Given the description of an element on the screen output the (x, y) to click on. 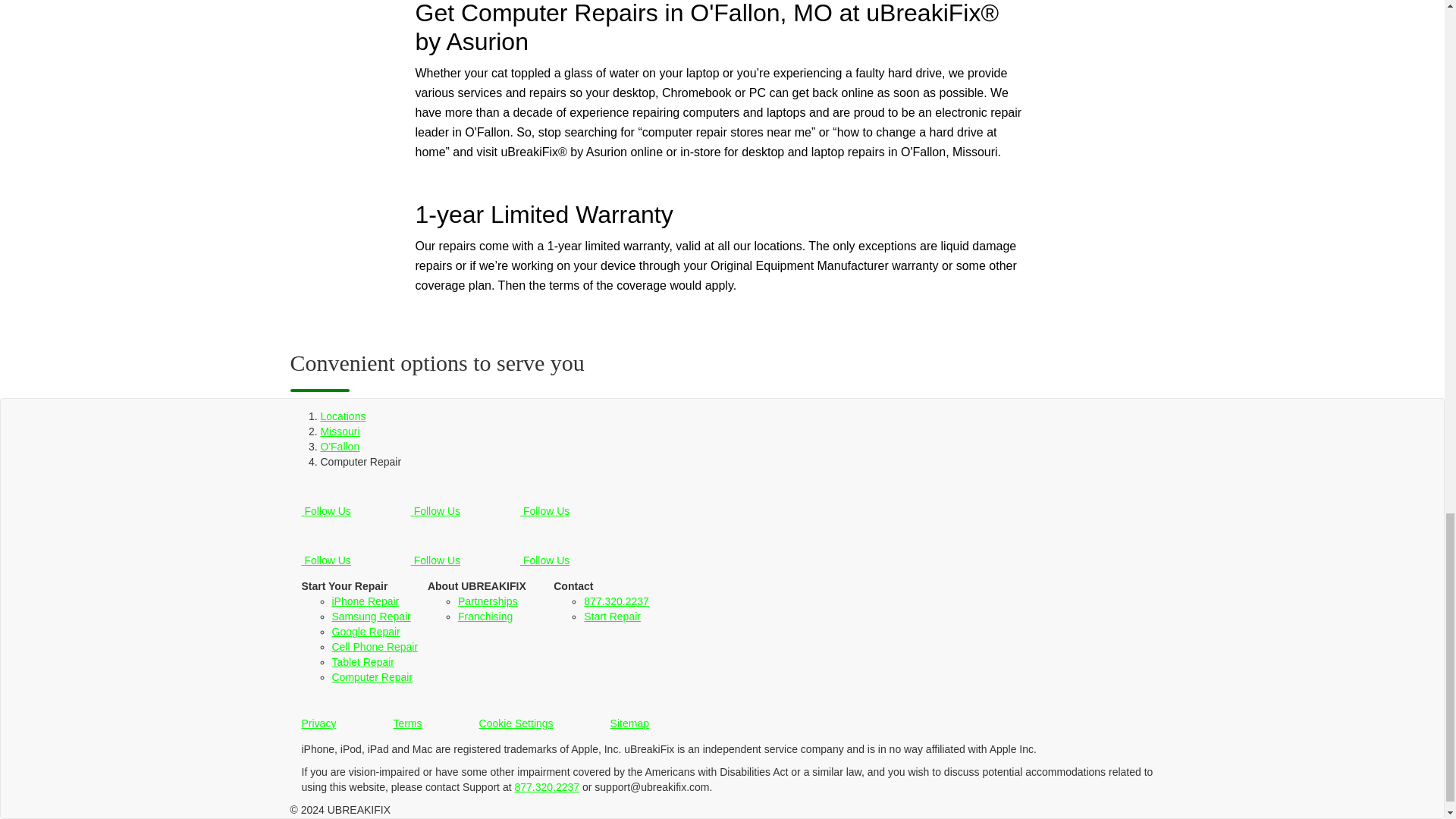
Follow Us (437, 504)
Missouri (339, 431)
Follow Us (327, 504)
Locations (342, 416)
O'Fallon (339, 446)
